Given the description of an element on the screen output the (x, y) to click on. 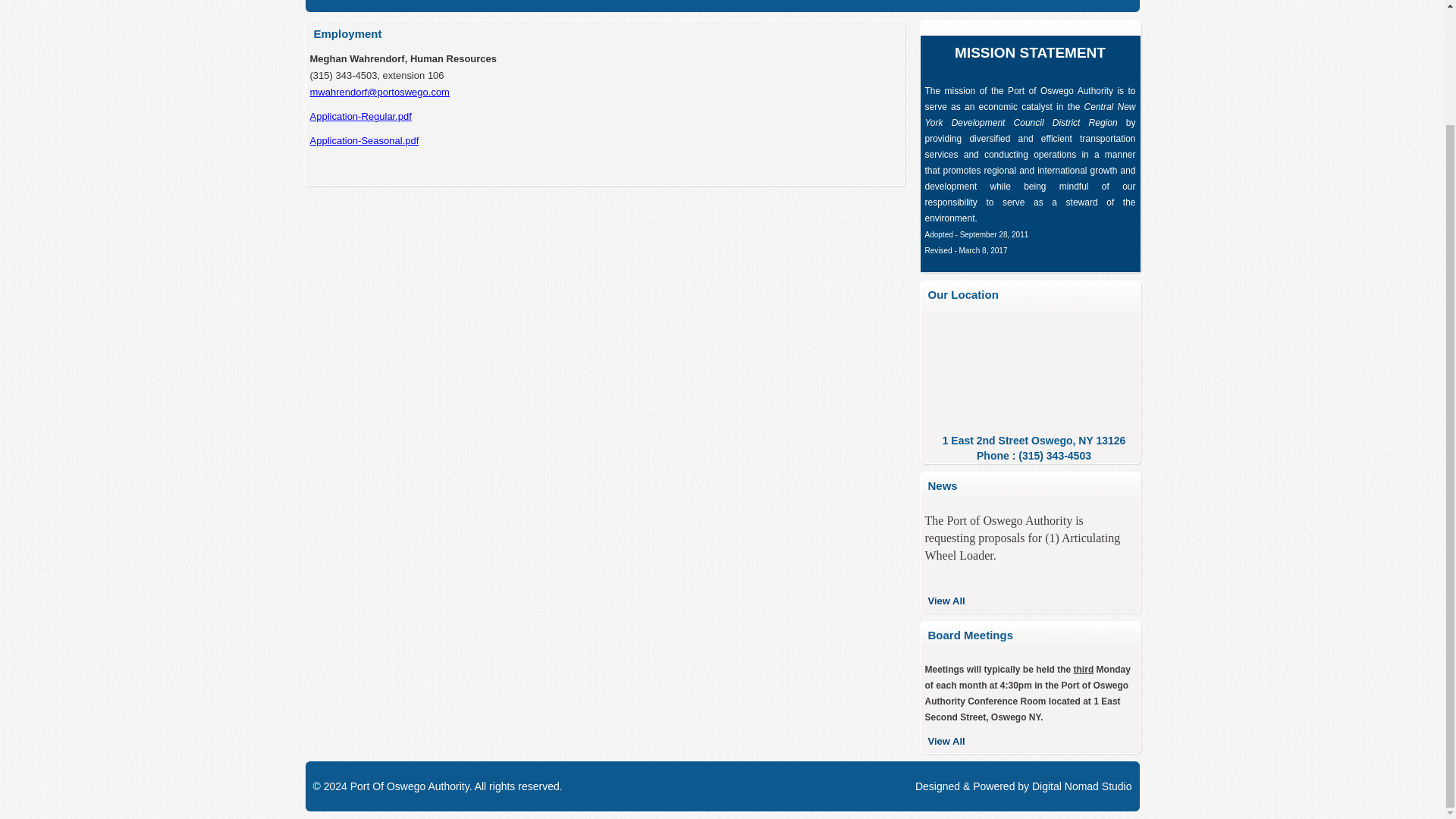
Home (328, 6)
Facilities (435, 6)
About (378, 6)
Board Meetings (761, 6)
